Given the description of an element on the screen output the (x, y) to click on. 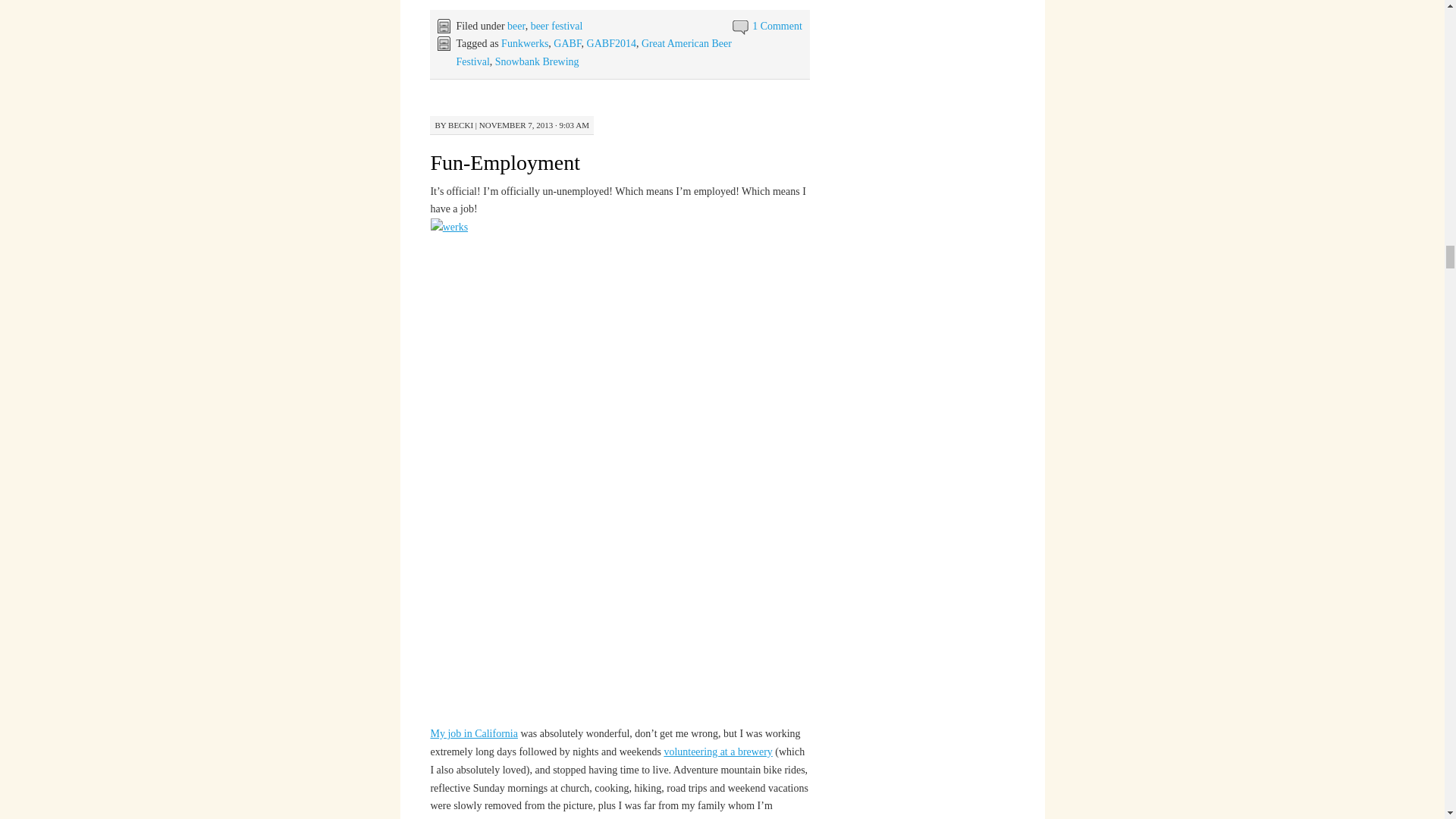
View all posts by Becki (460, 124)
